Given the description of an element on the screen output the (x, y) to click on. 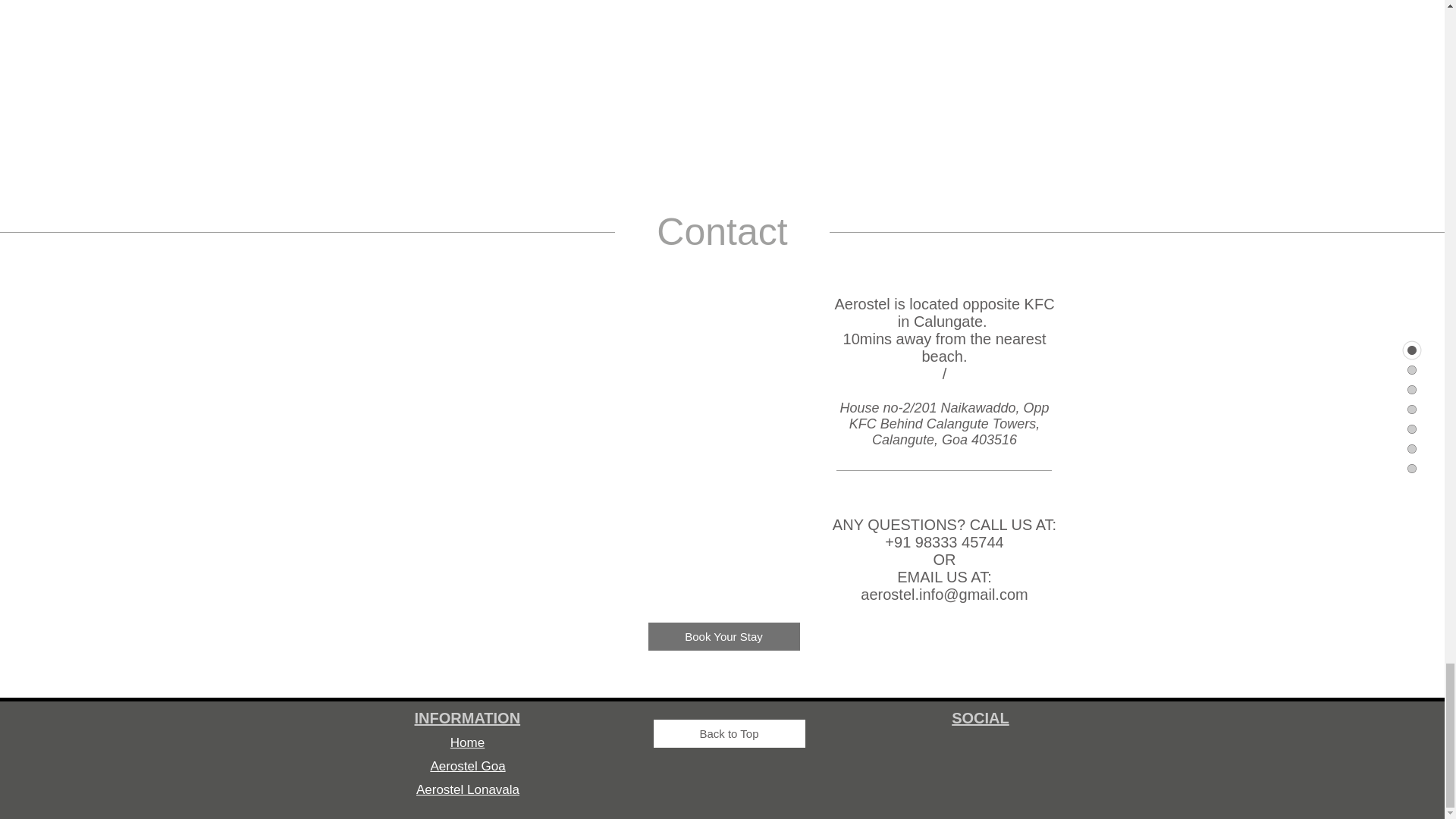
Aerostel Lonavala (467, 789)
Google Maps (552, 451)
Back to Top (729, 733)
Home (466, 742)
Book Your Stay (723, 636)
Aerostel Goa (467, 766)
